Given the description of an element on the screen output the (x, y) to click on. 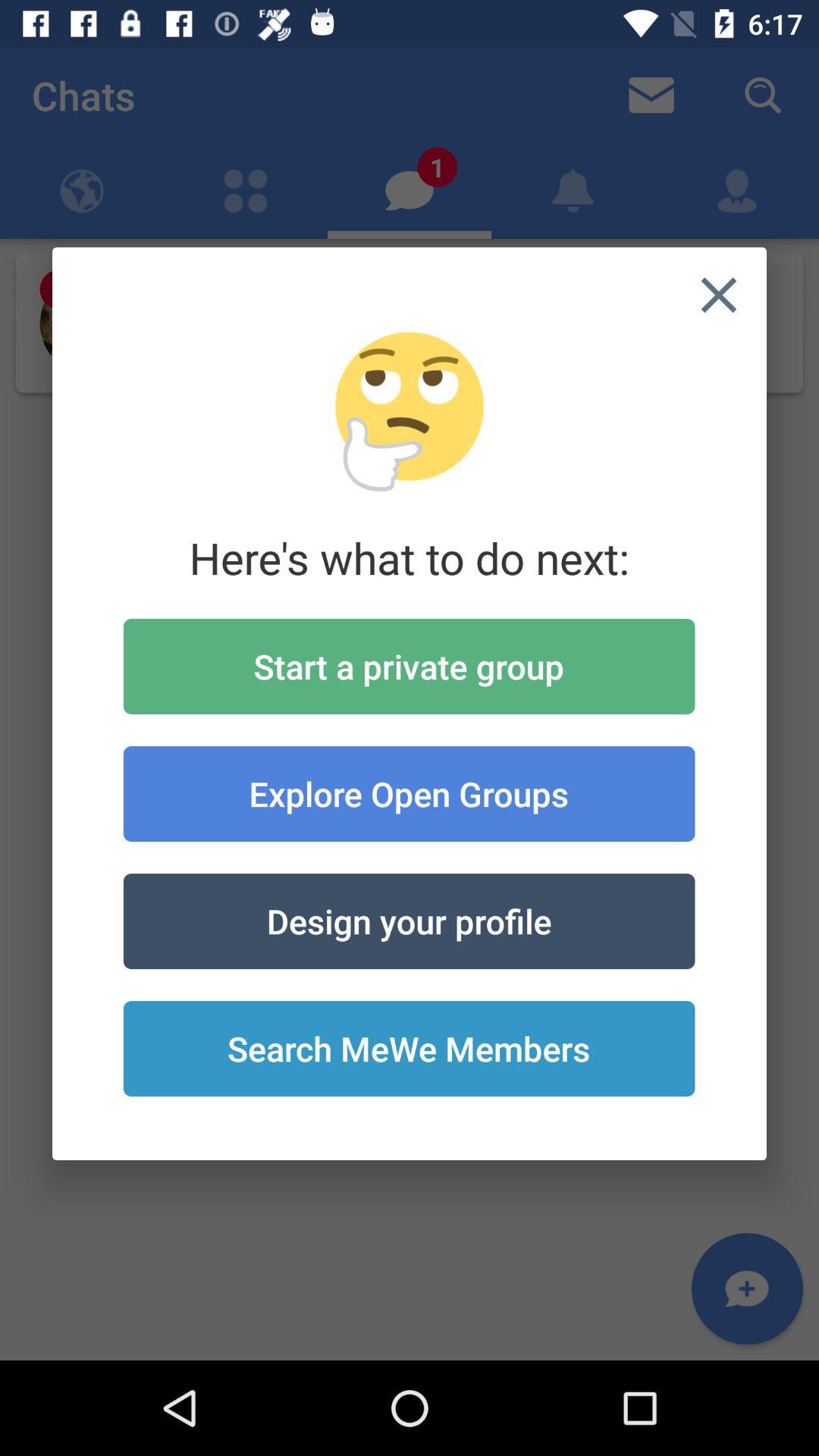
press the icon above the search mewe members item (409, 921)
